Given the description of an element on the screen output the (x, y) to click on. 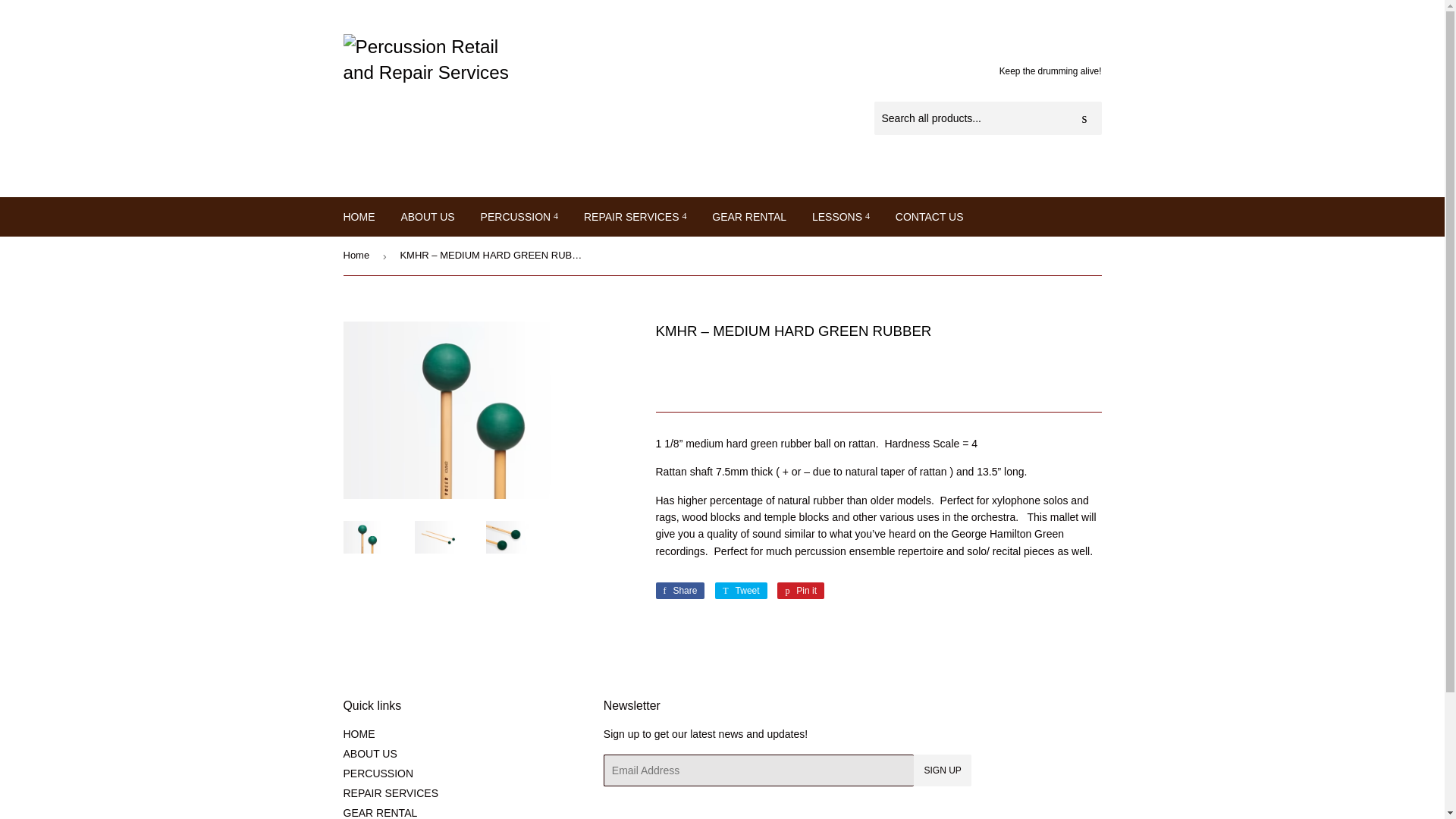
Share on Facebook (679, 590)
Pin on Pinterest (800, 590)
Search (1084, 119)
Tweet on Twitter (740, 590)
